Given the description of an element on the screen output the (x, y) to click on. 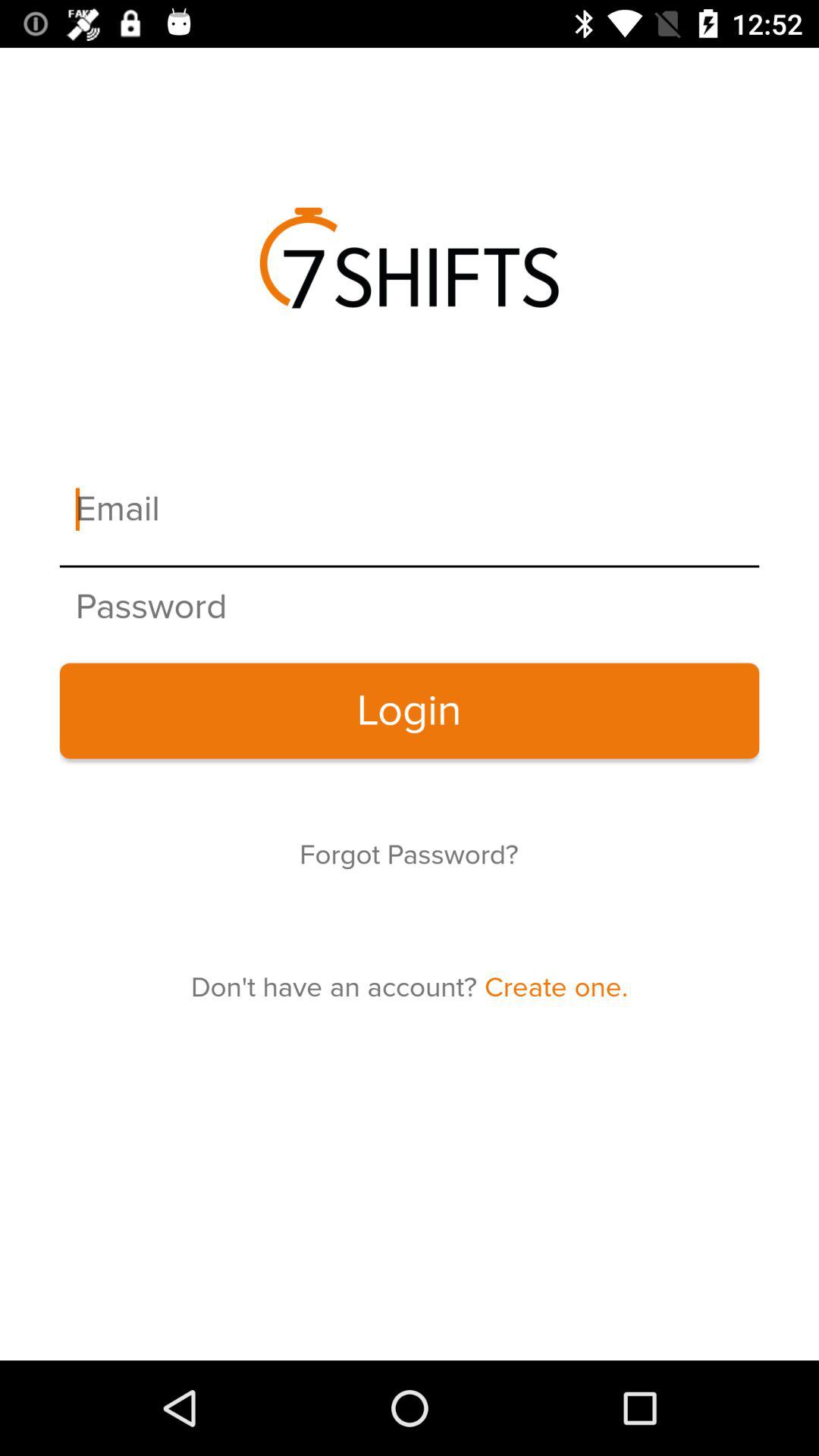
enter password (409, 607)
